Given the description of an element on the screen output the (x, y) to click on. 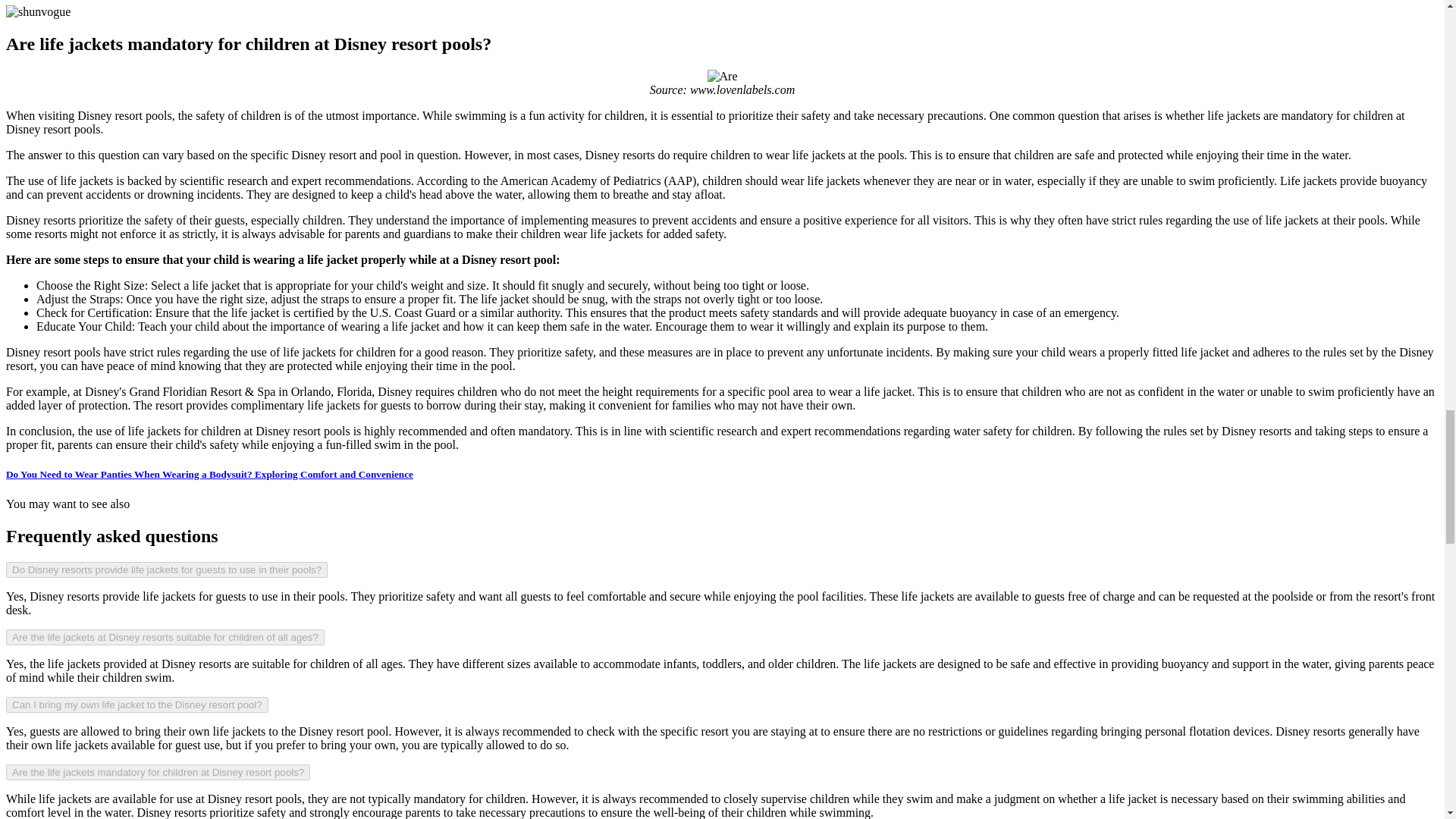
Can I bring my own life jacket to the Disney resort pool? (136, 704)
